Given the description of an element on the screen output the (x, y) to click on. 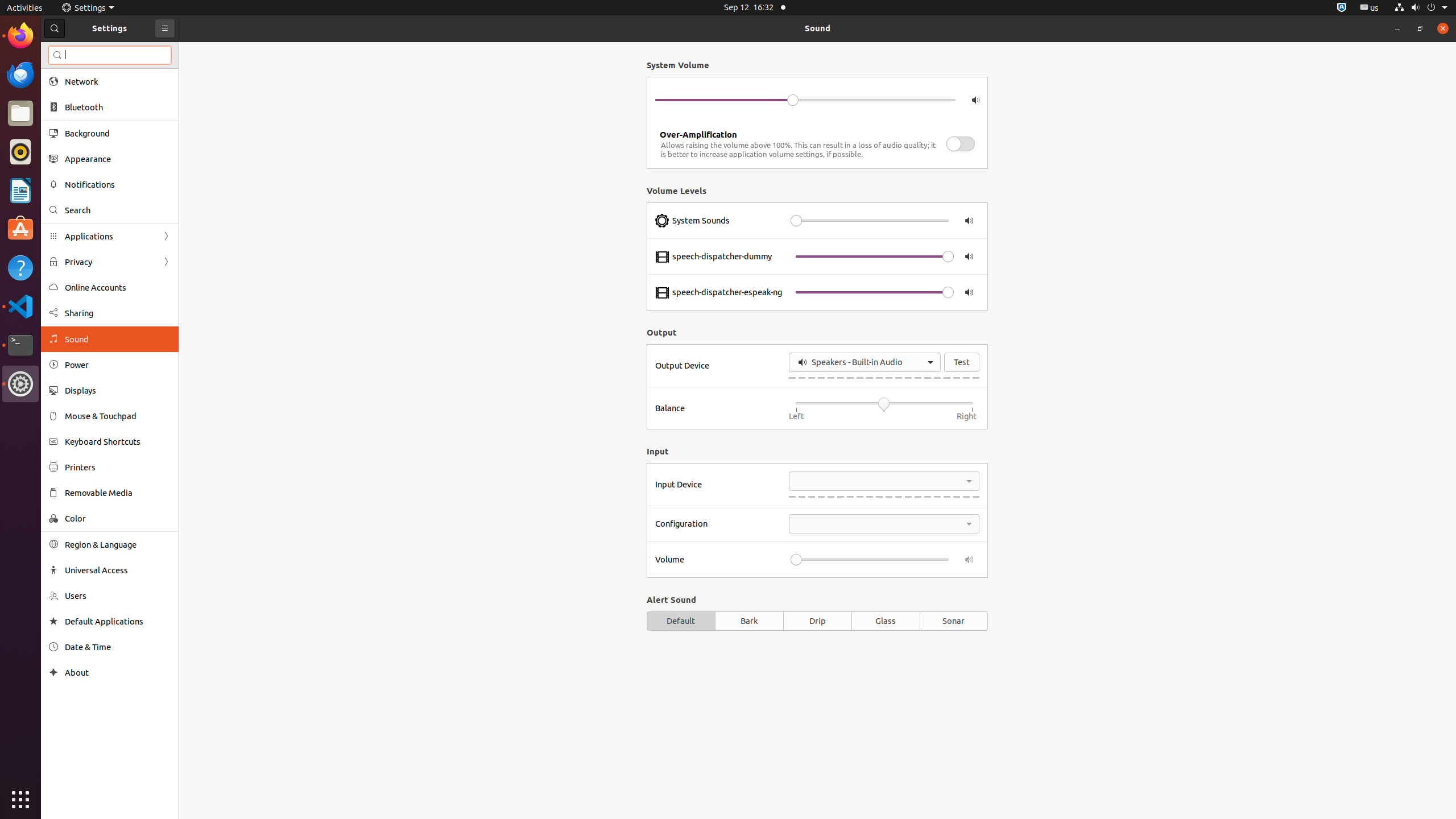
Volume Levels Element type: label (816, 190)
Displays Element type: label (117, 390)
Output Device Element type: label (718, 365)
About Element type: label (117, 672)
